Given the description of an element on the screen output the (x, y) to click on. 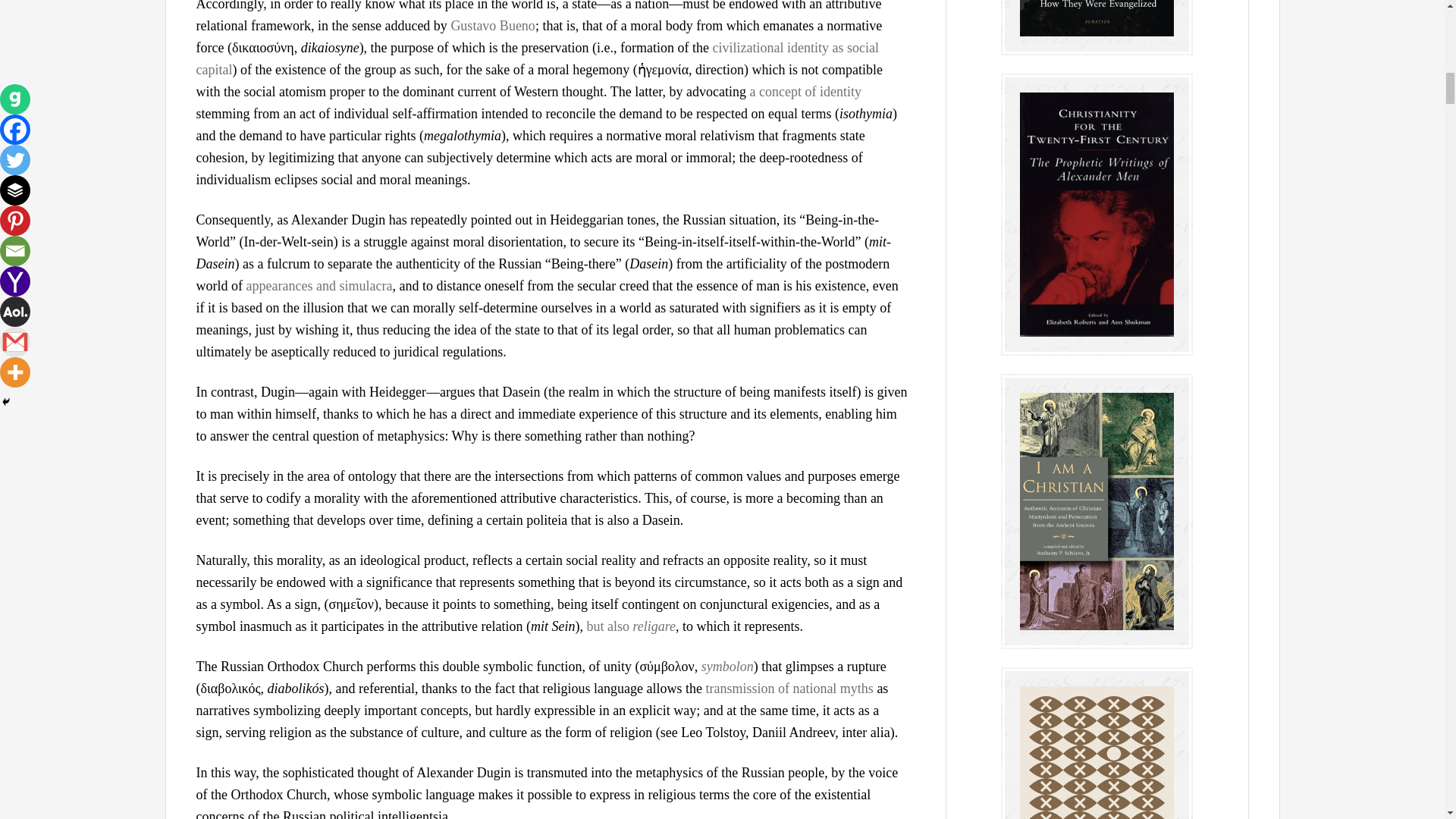
transmission of national myths (788, 688)
Gustavo Bueno (492, 25)
civilizational identity as social capital (536, 58)
appearances and simulacra (318, 285)
symbolon (727, 666)
a concept of identity (804, 91)
but also religare (630, 626)
